Given the description of an element on the screen output the (x, y) to click on. 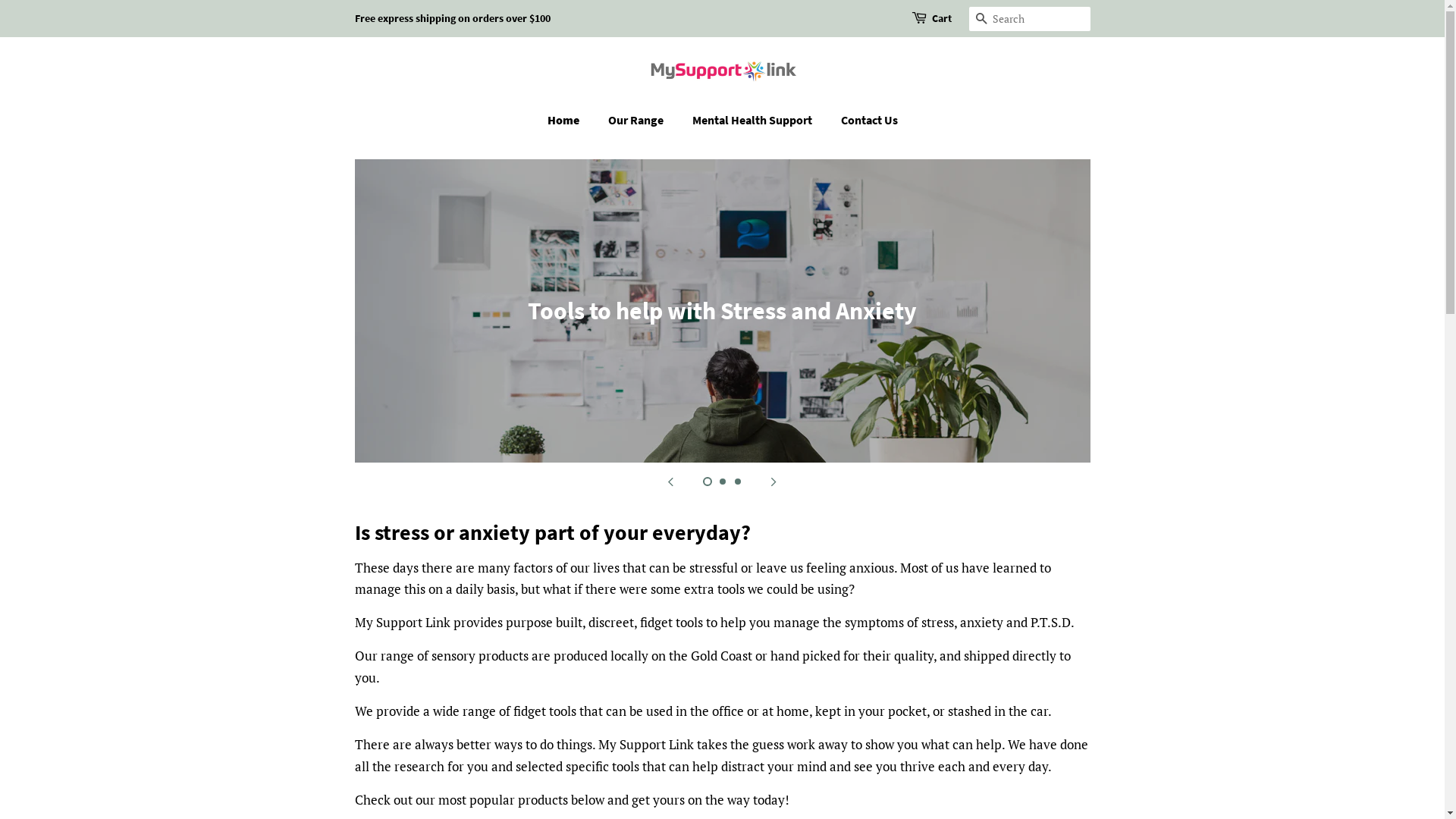
Contact Us Element type: text (863, 119)
Cart Element type: text (940, 18)
Search Element type: text (981, 18)
Our Range Element type: text (636, 119)
Home Element type: text (570, 119)
2 Element type: text (721, 481)
1 Element type: text (706, 481)
3 Element type: text (736, 481)
Mental Health Support Element type: text (753, 119)
